Given the description of an element on the screen output the (x, y) to click on. 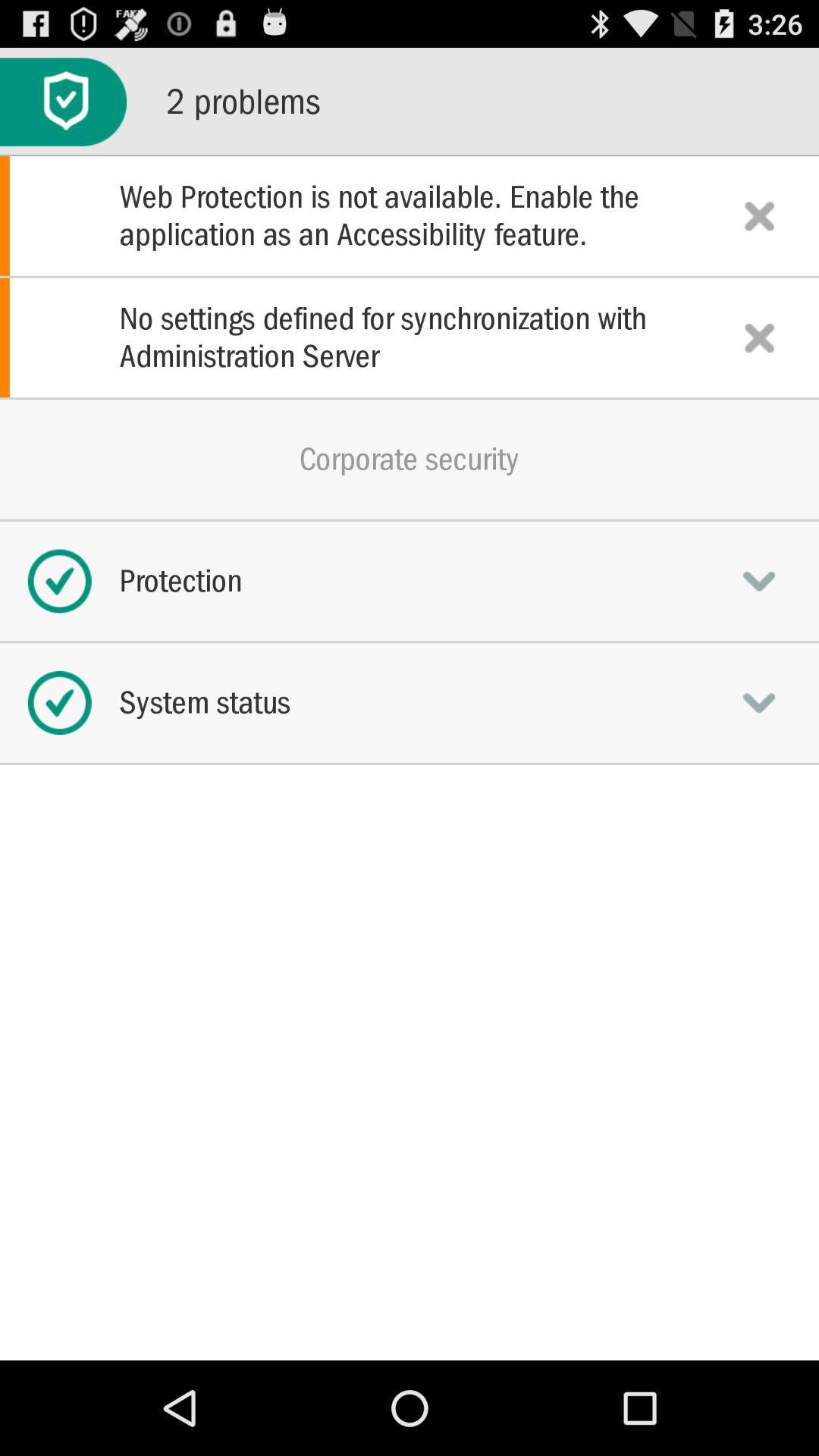
close problem (759, 337)
